Given the description of an element on the screen output the (x, y) to click on. 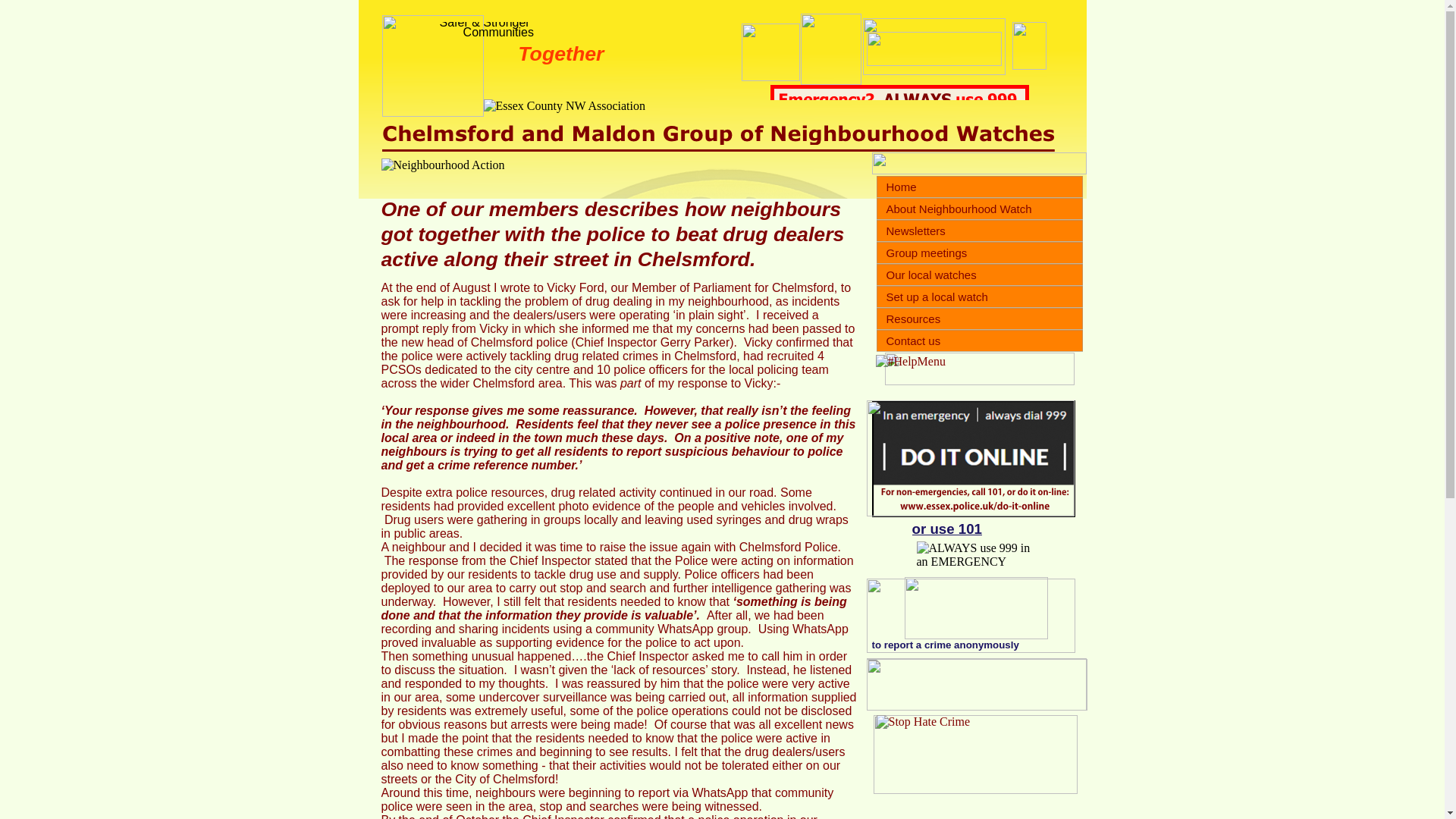
Set up a local watch (979, 296)
Newsletters (979, 230)
About Neighbourhood Watch (979, 209)
Home (979, 187)
Contact us (979, 341)
Resources (979, 318)
Group meetings (979, 252)
Our local watches (979, 274)
